Given the description of an element on the screen output the (x, y) to click on. 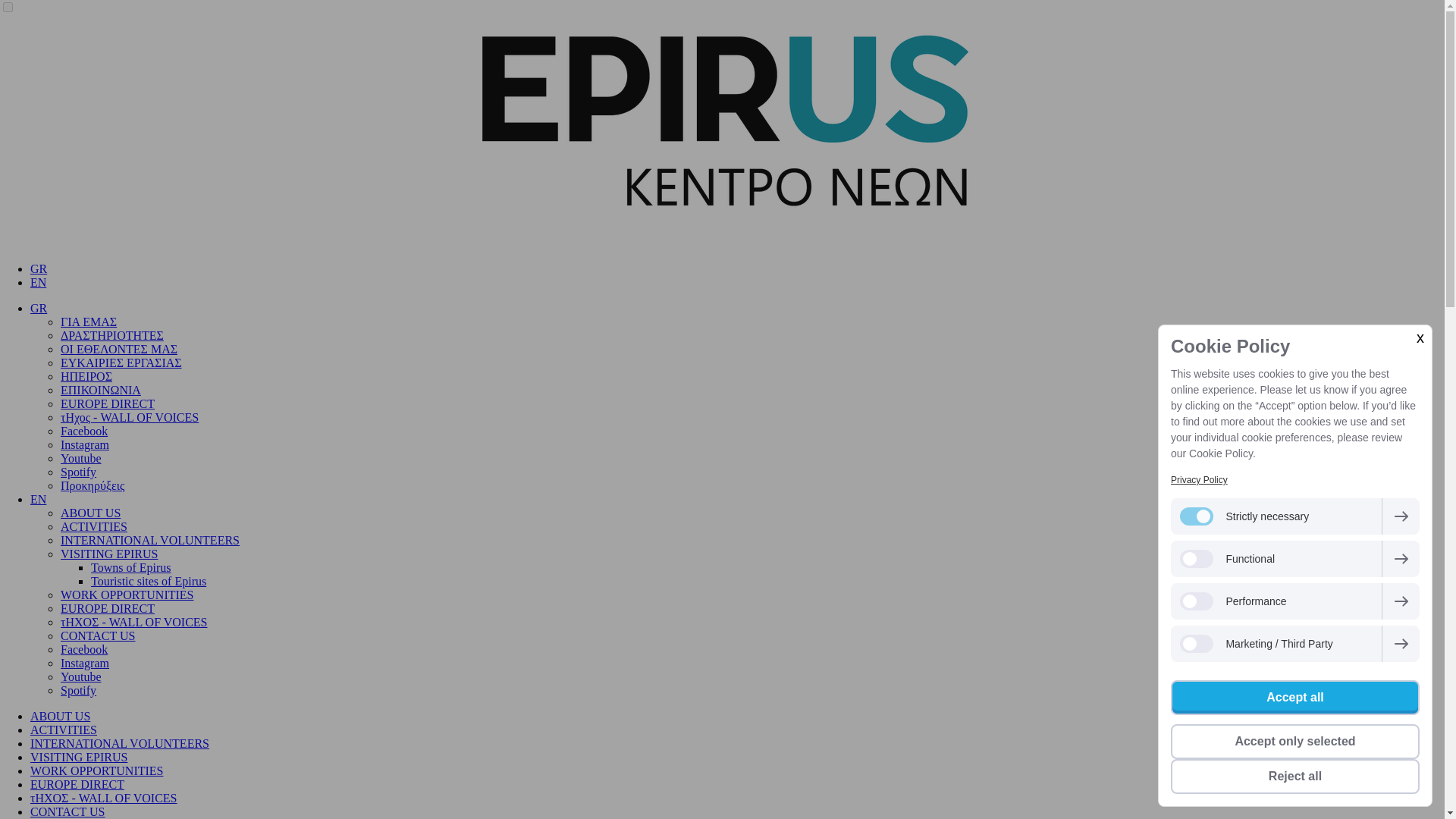
Touristic sites of Epirus (148, 581)
Youtube (81, 676)
GR (38, 308)
CONTACT US (98, 635)
ABOUT US (90, 512)
INTERNATIONAL VOLUNTEERS (150, 540)
VISITING EPIRUS (79, 757)
CONTACT US (67, 811)
EUROPE DIRECT (107, 608)
Instagram (85, 662)
ACTIVITIES (94, 526)
Spotify (78, 472)
Youtube (81, 458)
ACTIVITIES (63, 729)
Facebook (84, 649)
